Given the description of an element on the screen output the (x, y) to click on. 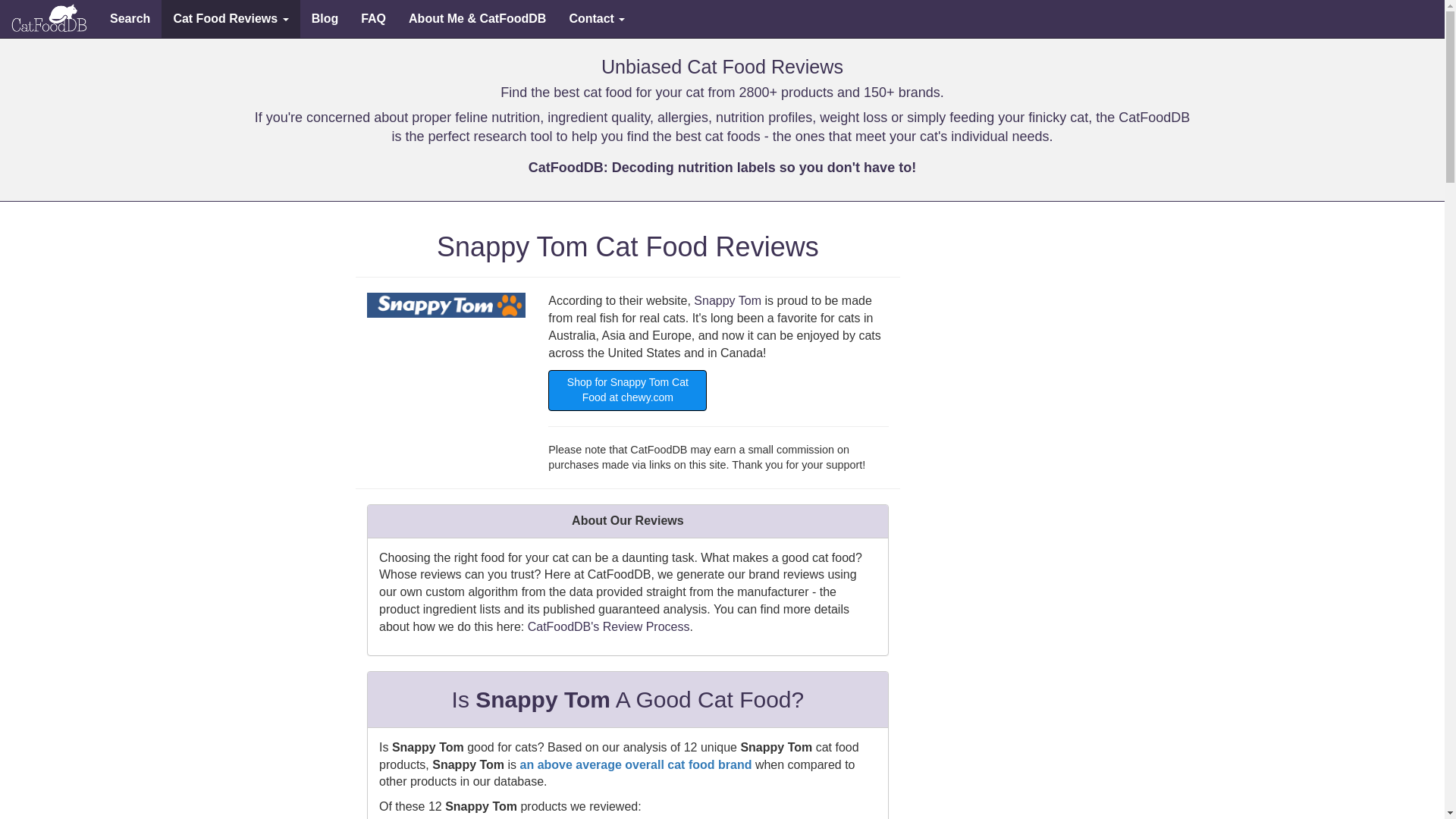
Snappy Tom Cat Food Reviews (445, 304)
Snappy Tom Cat Food Reviews (49, 18)
Cat Food Reviews (230, 18)
Search (130, 18)
